Given the description of an element on the screen output the (x, y) to click on. 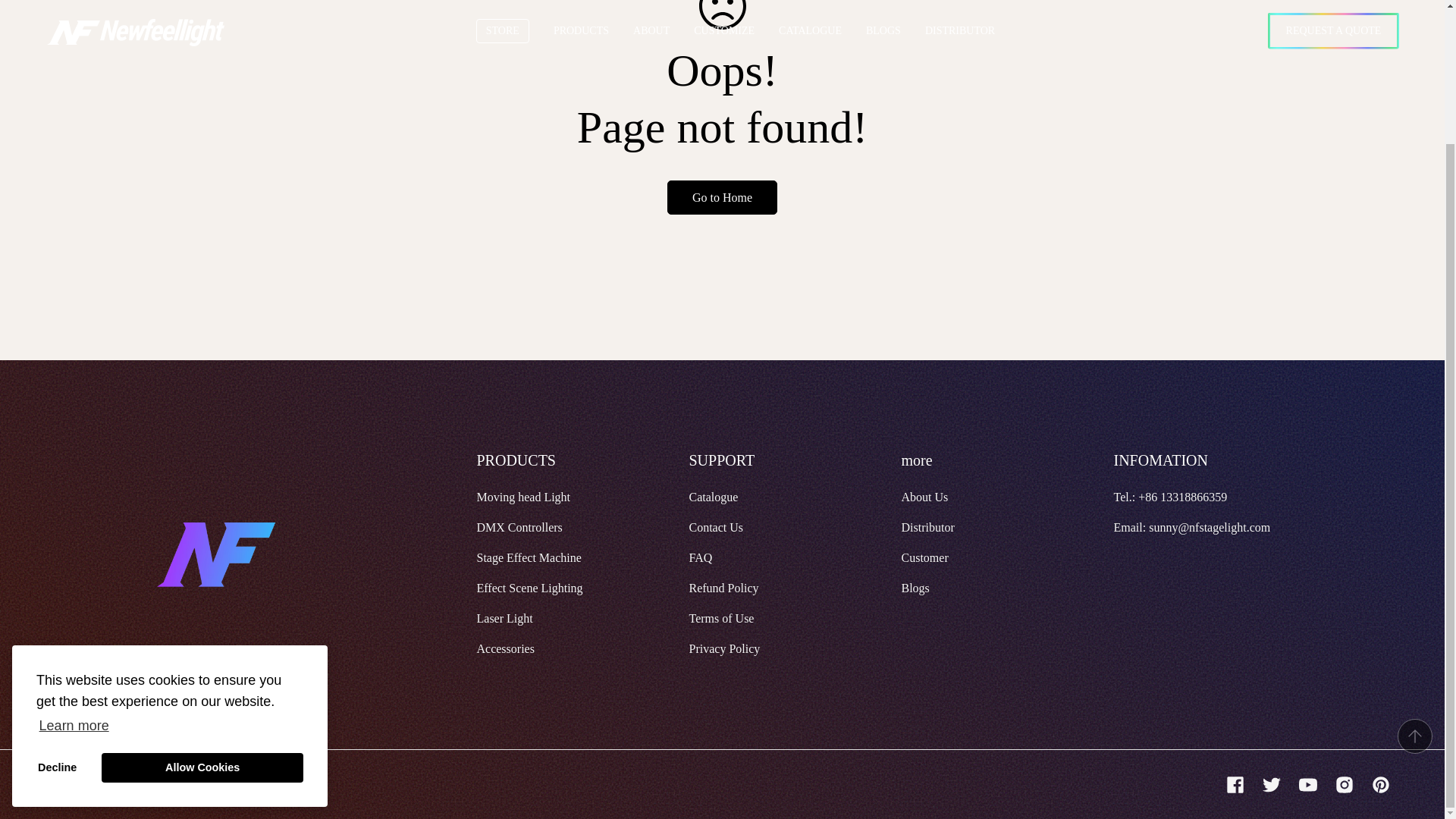
Decline (57, 603)
Learn more (74, 560)
Allow Cookies (201, 603)
